Given the description of an element on the screen output the (x, y) to click on. 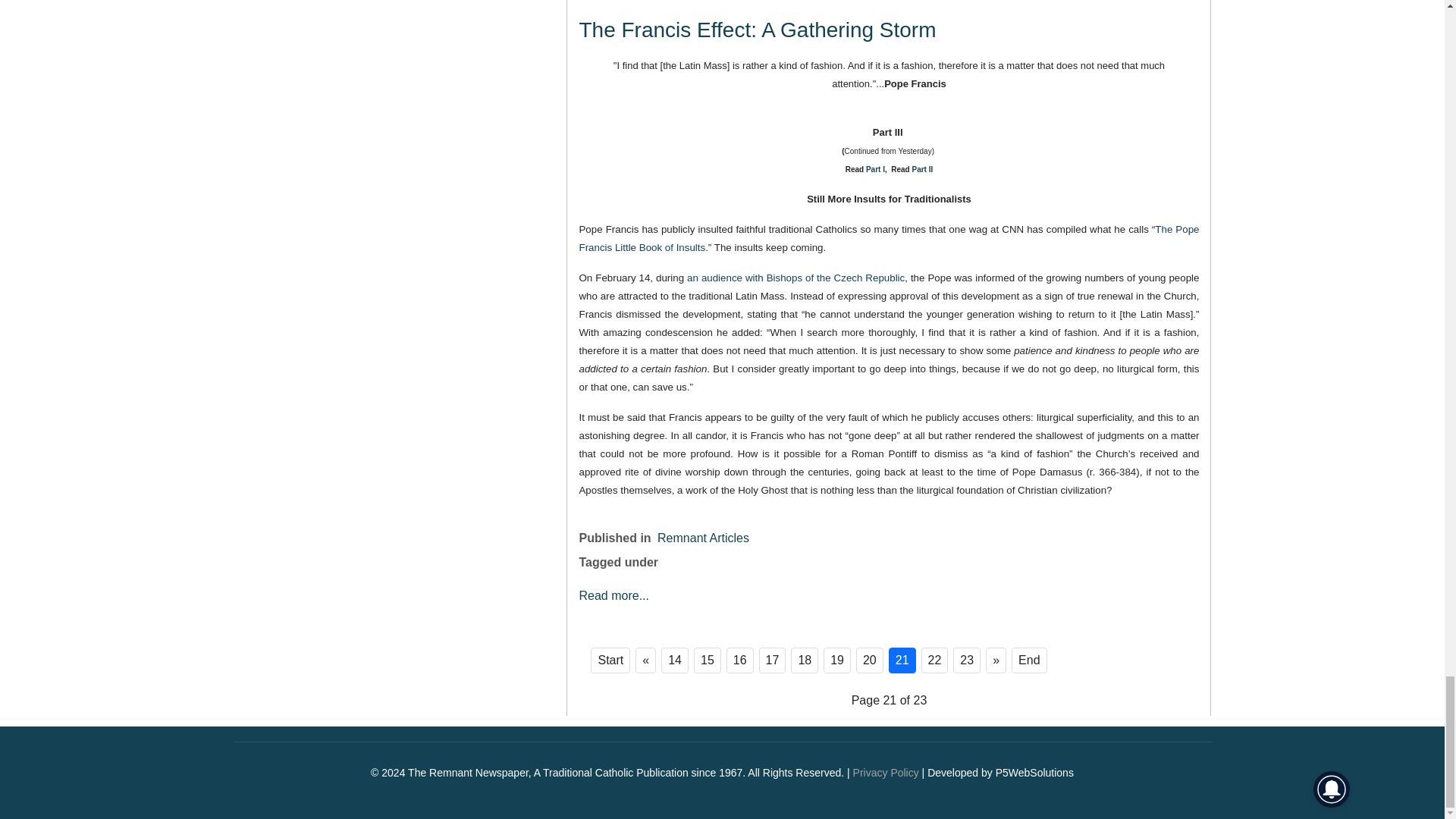
17 (772, 660)
14 (674, 660)
End (1028, 660)
19 (837, 660)
Start (610, 660)
23 (966, 660)
18 (804, 660)
20 (869, 660)
16 (740, 660)
22 (935, 660)
15 (707, 660)
